Given the description of an element on the screen output the (x, y) to click on. 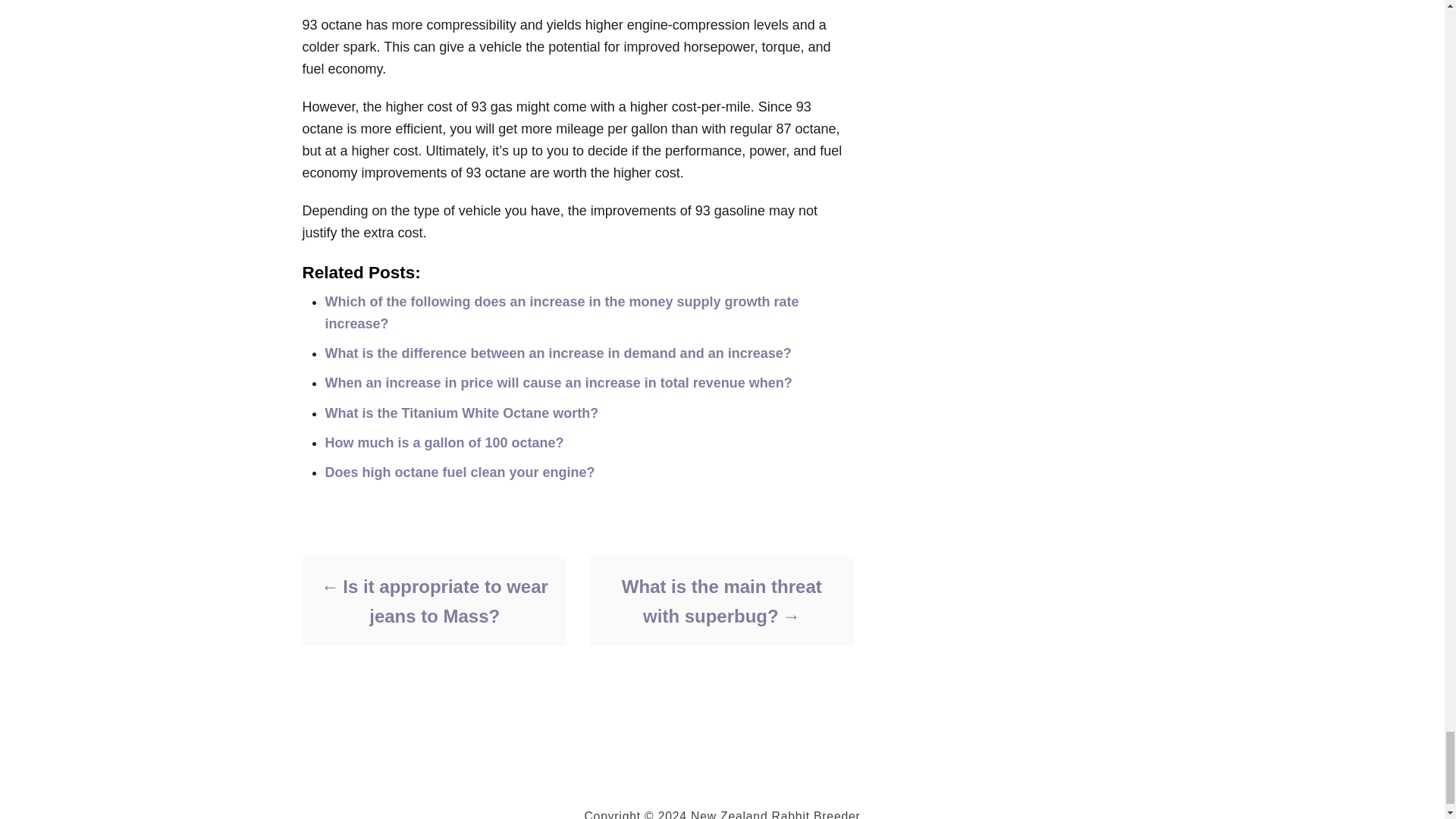
Does high octane fuel clean your engine? (459, 472)
Is it appropriate to wear jeans to Mass? (434, 600)
How much is a gallon of 100 octane? (443, 442)
What is the Titanium White Octane worth? (461, 412)
What is the main threat with superbug? (721, 600)
